Given the description of an element on the screen output the (x, y) to click on. 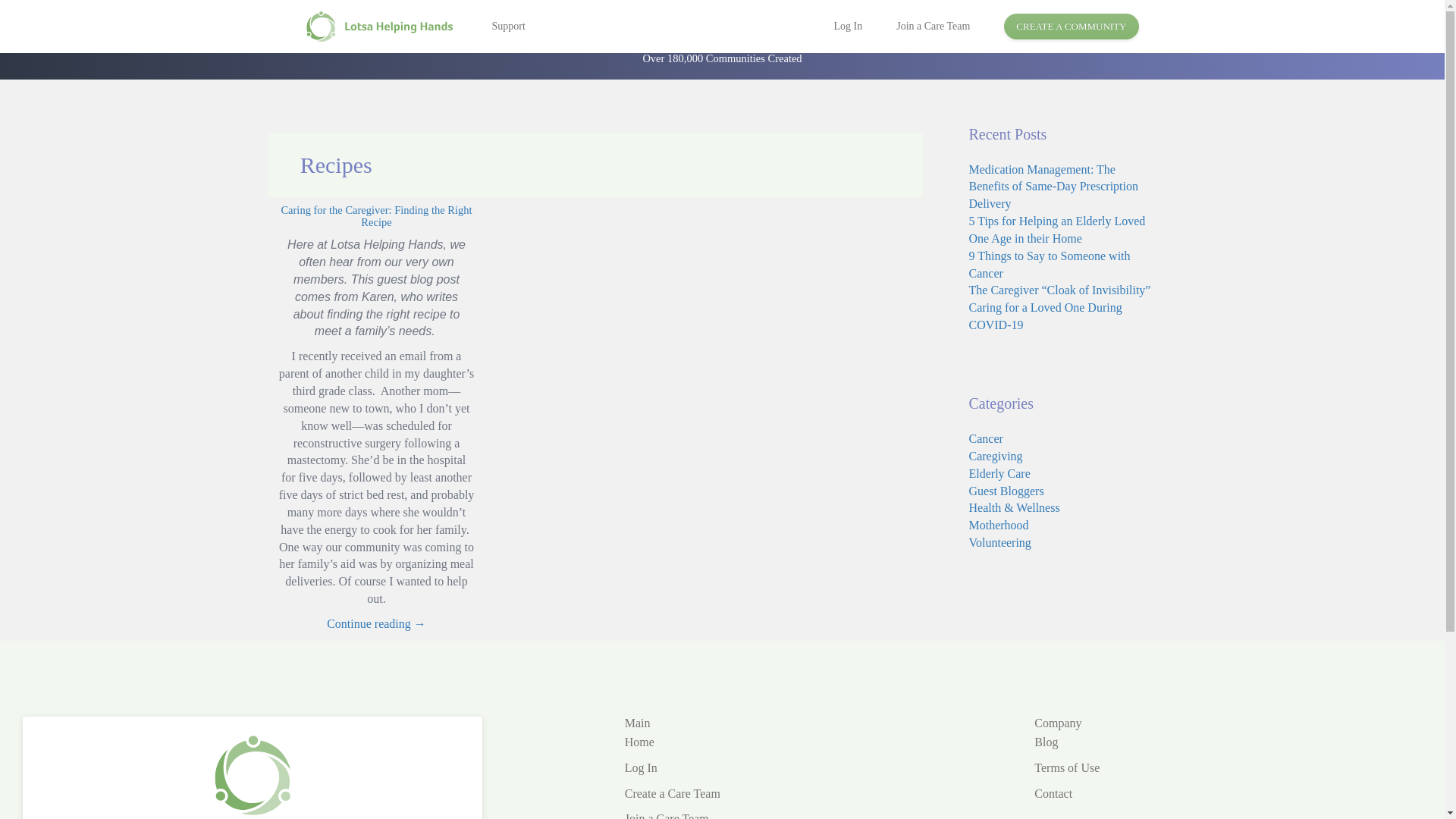
Caregiving (996, 455)
5 Tips for Helping an Elderly Loved One Age in their Home (1057, 229)
Contact (1052, 793)
Blog (1045, 741)
CREATE A COMMUNITY (1071, 26)
Cancer (986, 438)
Elderly Care (999, 472)
Terms of Use (1066, 767)
Caring for the Caregiver: Finding the Right Recipe (376, 216)
Volunteering (999, 542)
Caring for a Loved One During COVID-19 (1045, 316)
Log In (858, 25)
Lotsa Helping Hands (381, 26)
Support (496, 25)
